Given the description of an element on the screen output the (x, y) to click on. 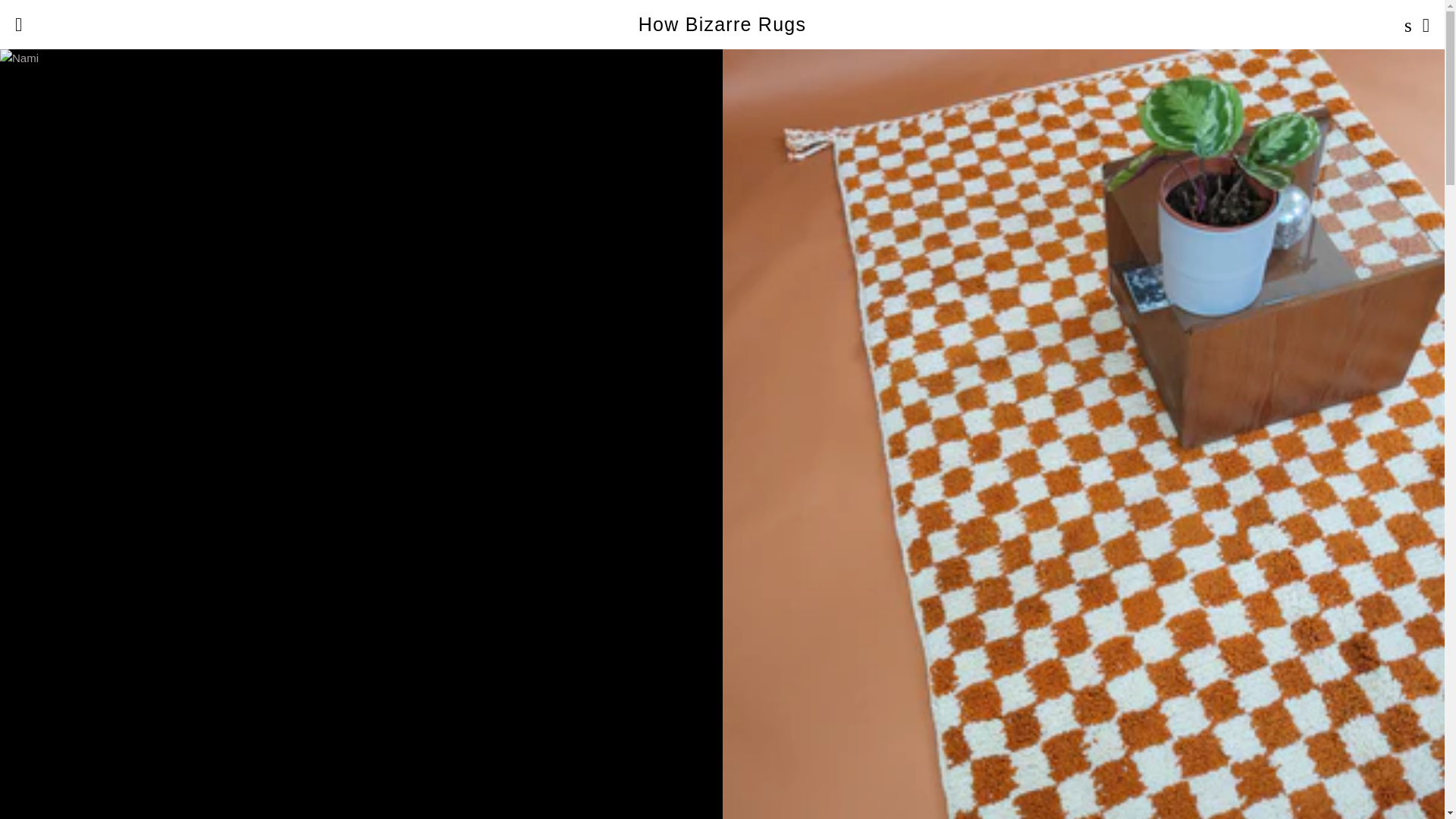
How Bizarre Rugs (722, 24)
